Given the description of an element on the screen output the (x, y) to click on. 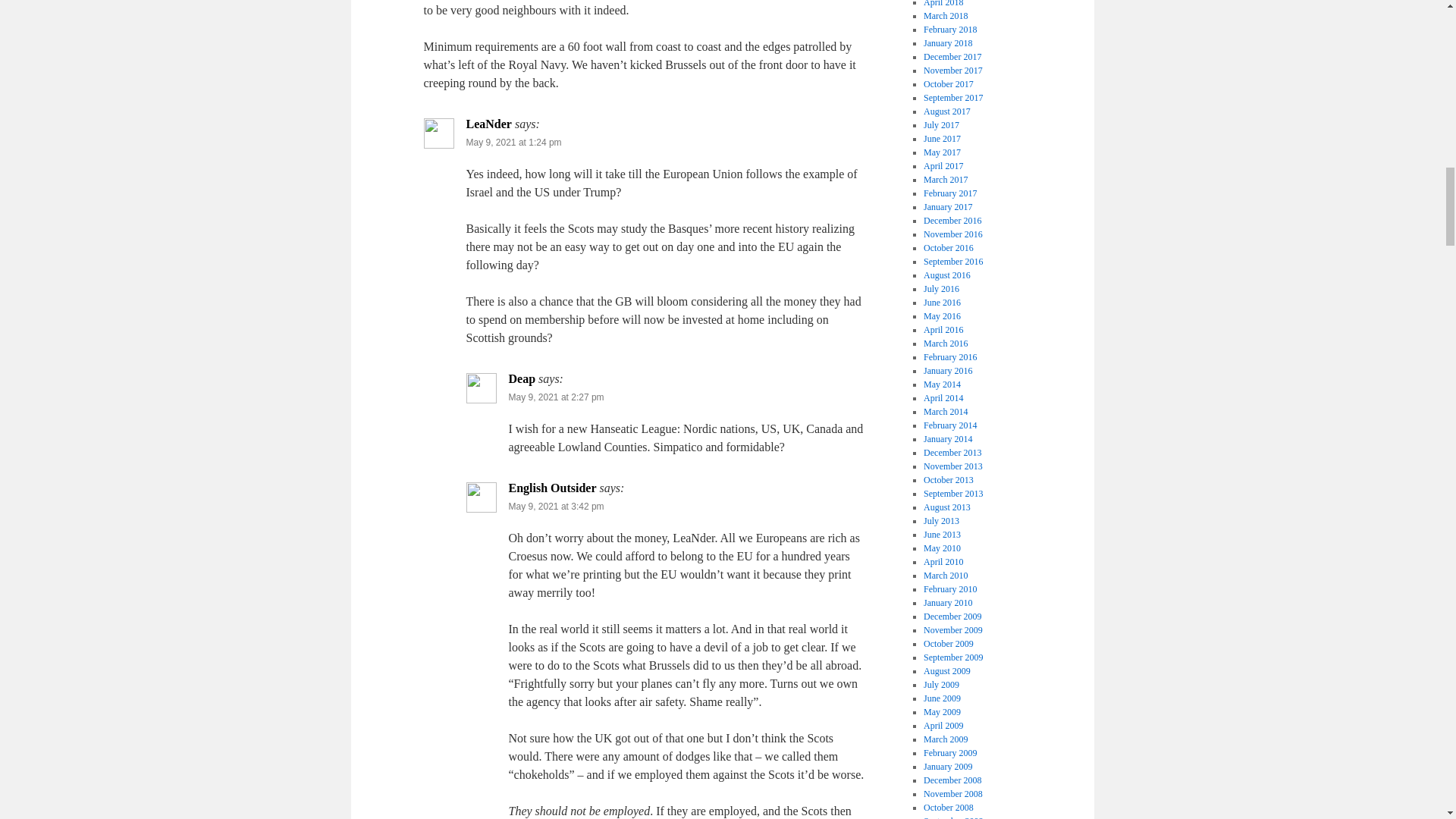
May 9, 2021 at 3:42 pm (556, 506)
May 9, 2021 at 1:24 pm (512, 142)
May 9, 2021 at 2:27 pm (556, 397)
